Given the description of an element on the screen output the (x, y) to click on. 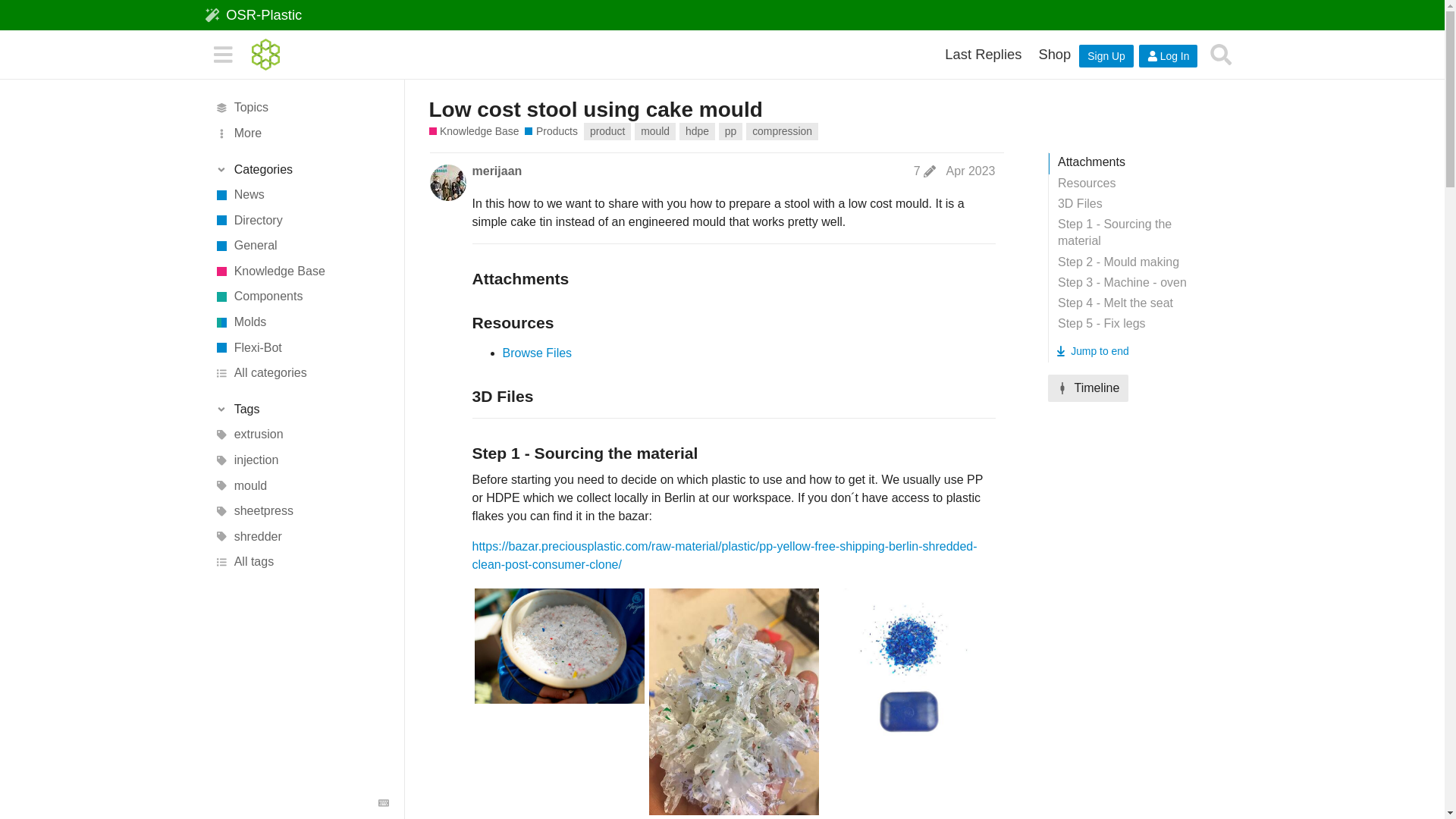
mould (301, 485)
Jump to end (1091, 350)
All tags (301, 562)
Molds (301, 321)
General (301, 246)
User and service directory (301, 220)
Knowledge Base (474, 131)
News (301, 194)
All the new bits and bolts (301, 194)
mould (654, 131)
Categories (301, 169)
Knowledge Base (301, 271)
More (301, 133)
sheetpress (301, 511)
All categories (301, 373)
